Given the description of an element on the screen output the (x, y) to click on. 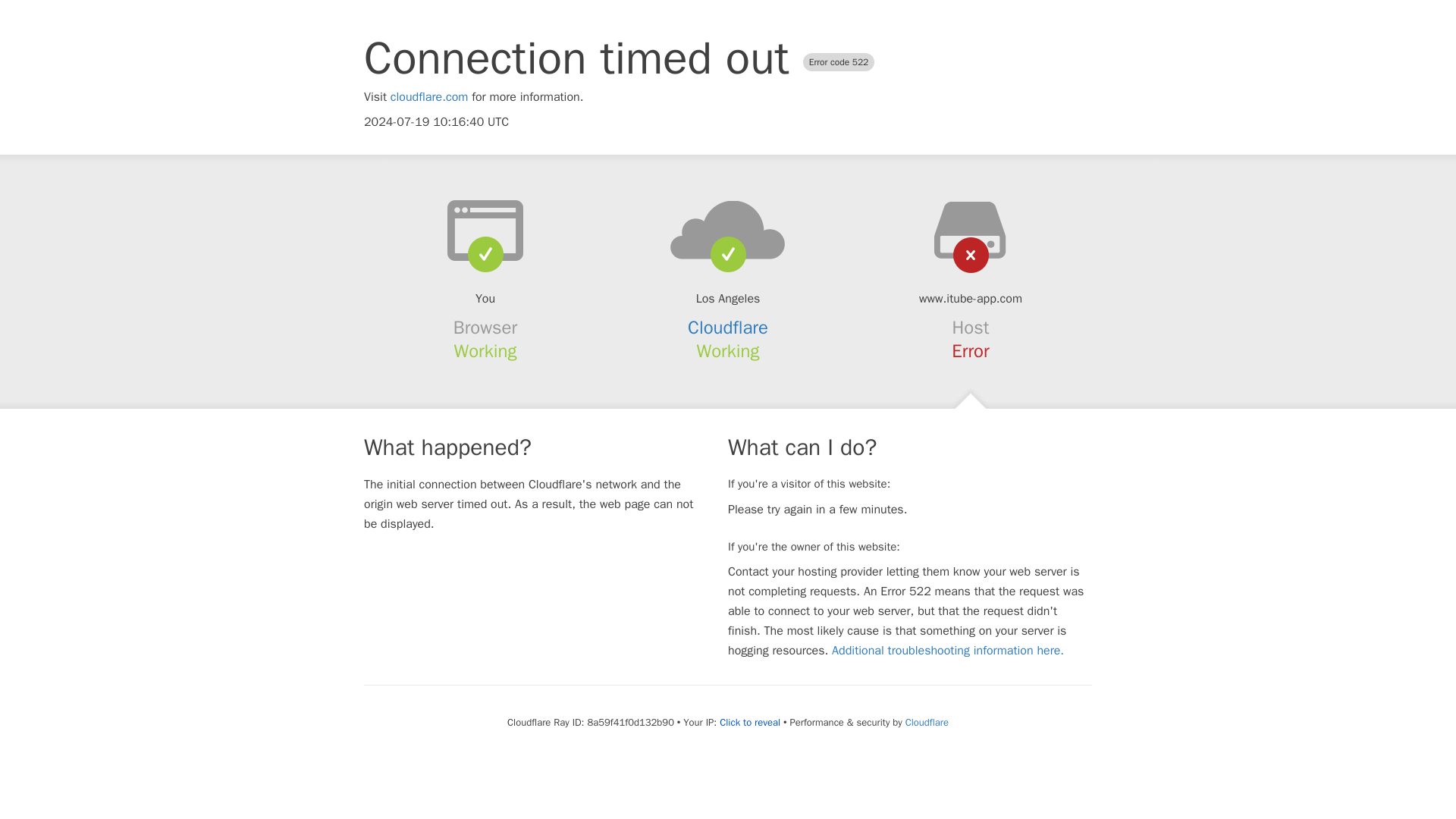
Cloudflare (927, 721)
Cloudflare (727, 327)
Additional troubleshooting information here. (947, 650)
Click to reveal (749, 722)
cloudflare.com (429, 96)
